Given the description of an element on the screen output the (x, y) to click on. 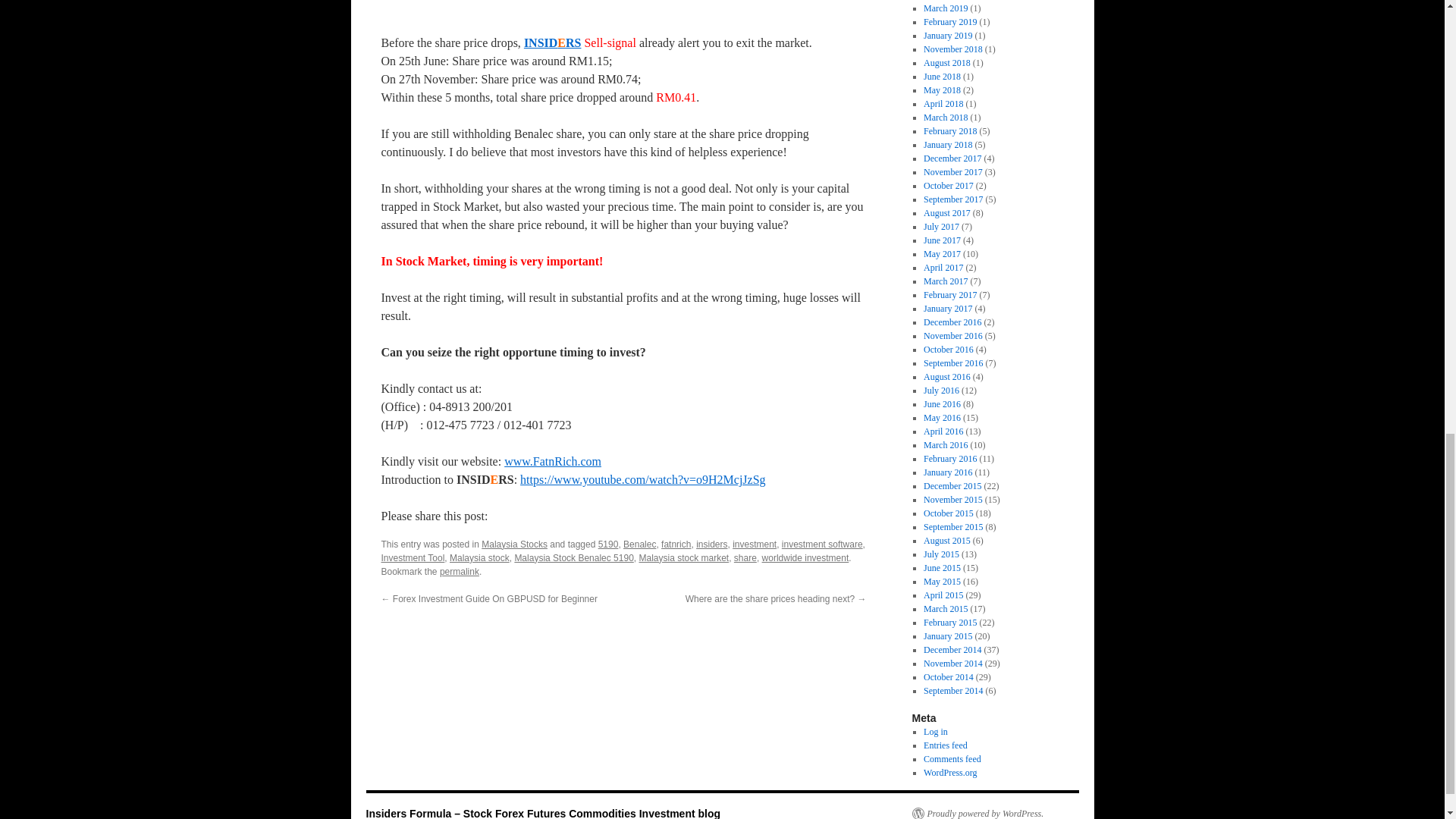
Investment Tool (412, 557)
permalink (459, 571)
fatnrich (675, 543)
Permalink to Seize the stock market investment opportunity! (459, 571)
worldwide investment (804, 557)
INSIDERS (552, 42)
Benalec (639, 543)
investment (754, 543)
www.FatnRich.com (552, 461)
5190 (608, 543)
Malaysia stock (479, 557)
share (745, 557)
insiders (710, 543)
Malaysia Stock Benalec 5190 (573, 557)
Malaysia Stock Benalec 5190 (623, 12)
